Given the description of an element on the screen output the (x, y) to click on. 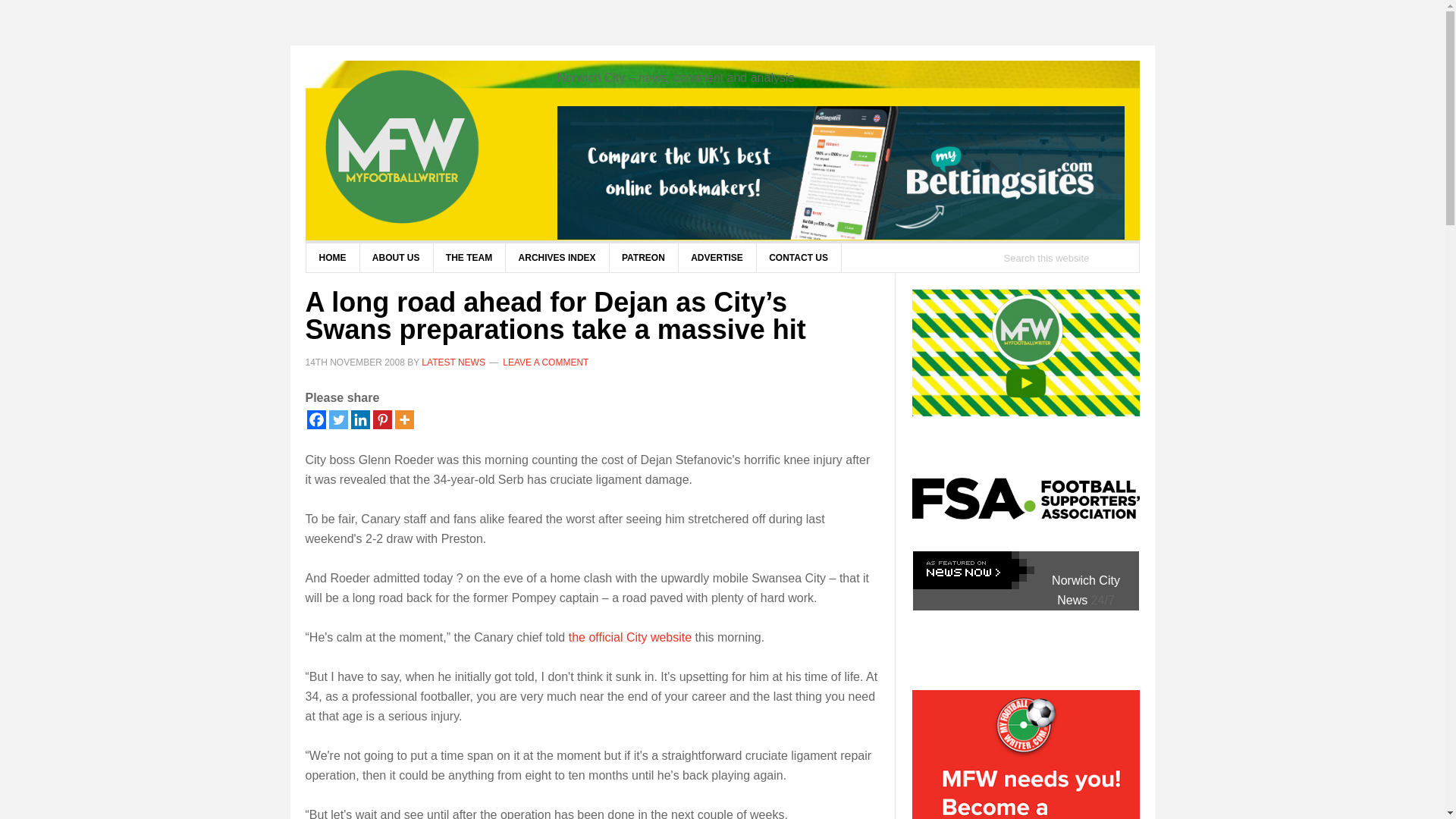
PATREON (643, 257)
Norwich City News (1085, 590)
Pinterest (381, 419)
ARCHIVES INDEX (557, 257)
CONTACT US (798, 257)
the official City website (630, 636)
More (403, 419)
Linkedin (359, 419)
LATEST NEWS (453, 361)
